Given the description of an element on the screen output the (x, y) to click on. 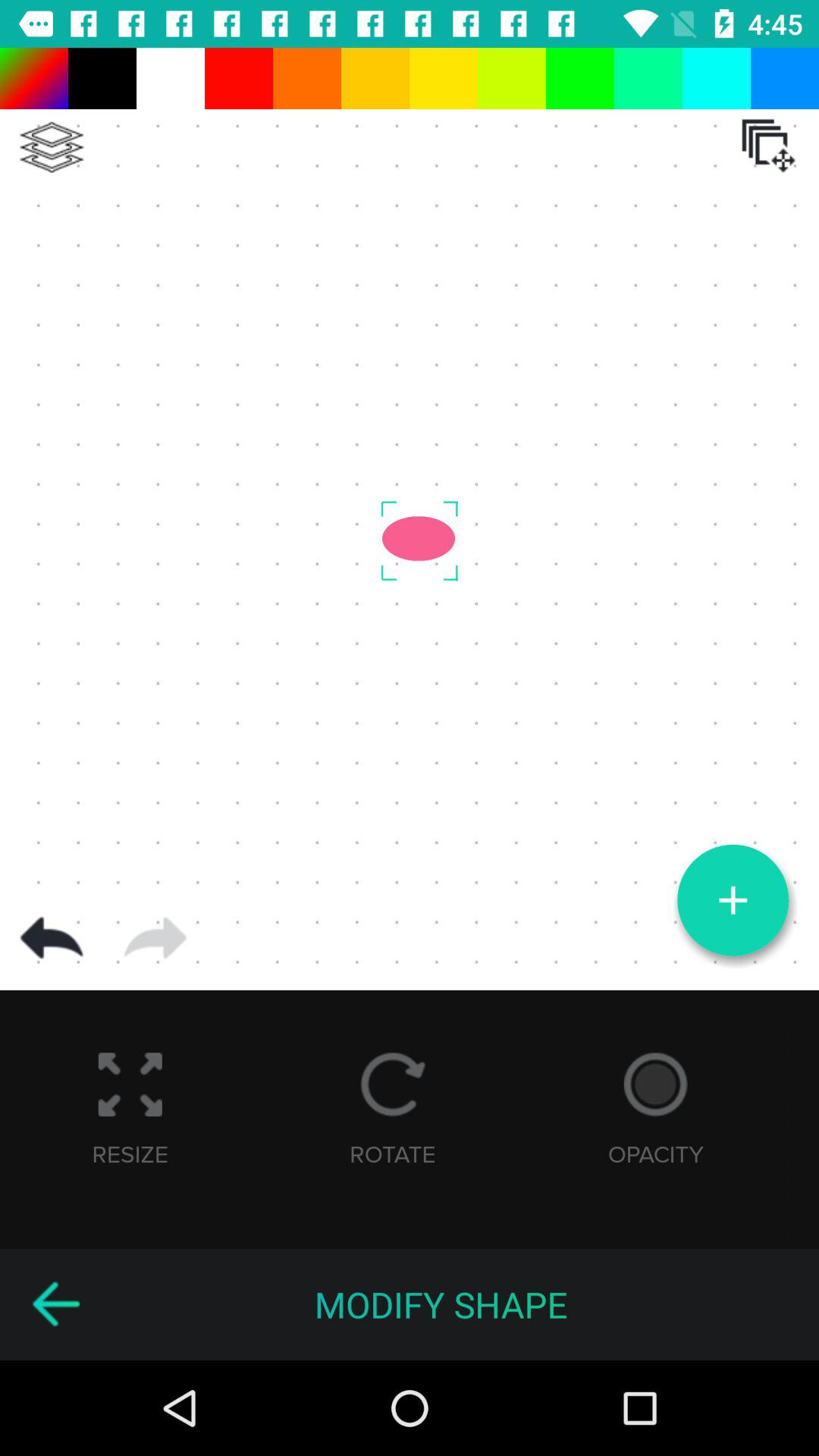
clolr page (51, 147)
